Given the description of an element on the screen output the (x, y) to click on. 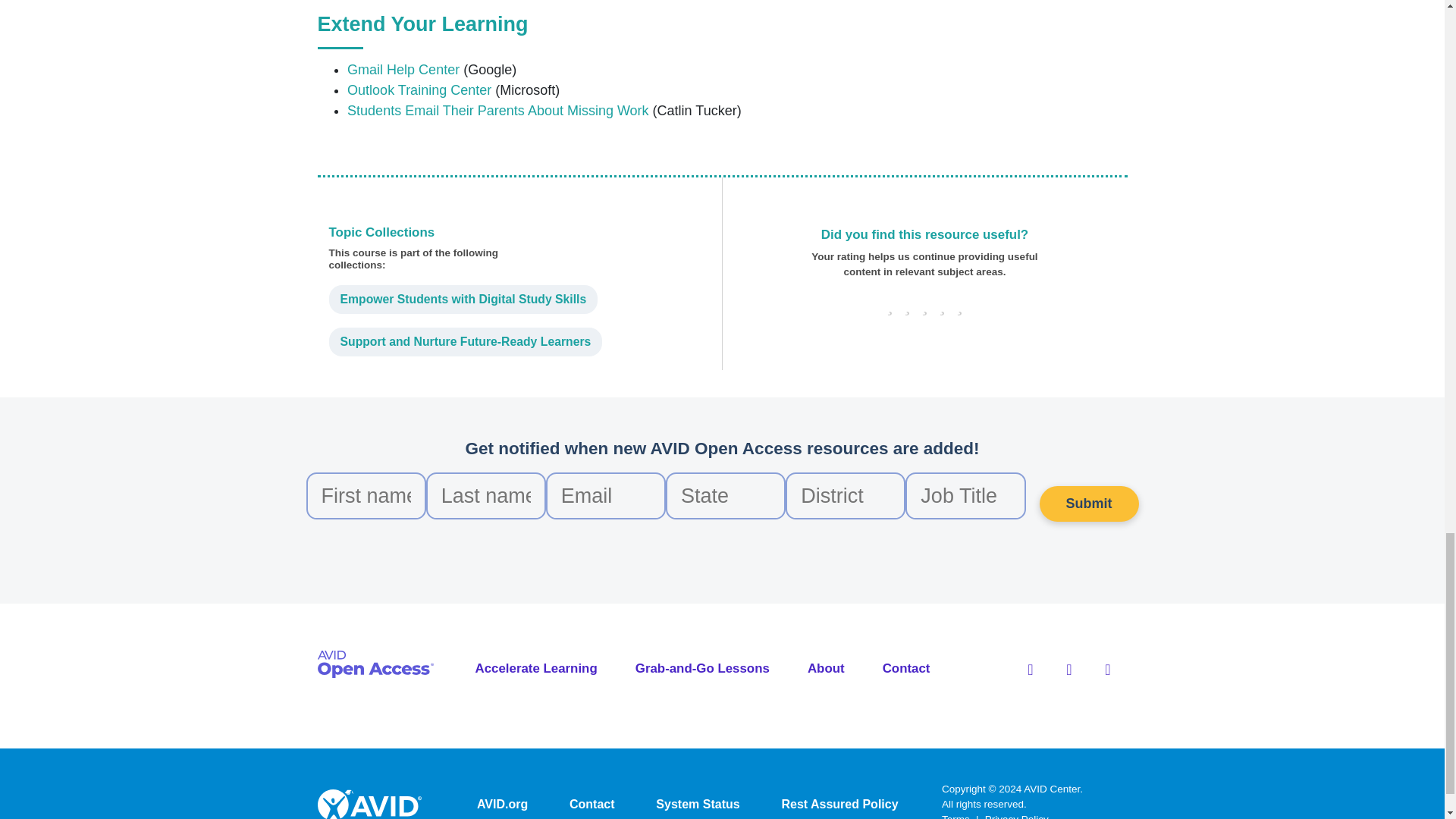
Instagram (1107, 669)
Twitter (1069, 669)
Submit (1088, 503)
Facebook (1030, 669)
